Given the description of an element on the screen output the (x, y) to click on. 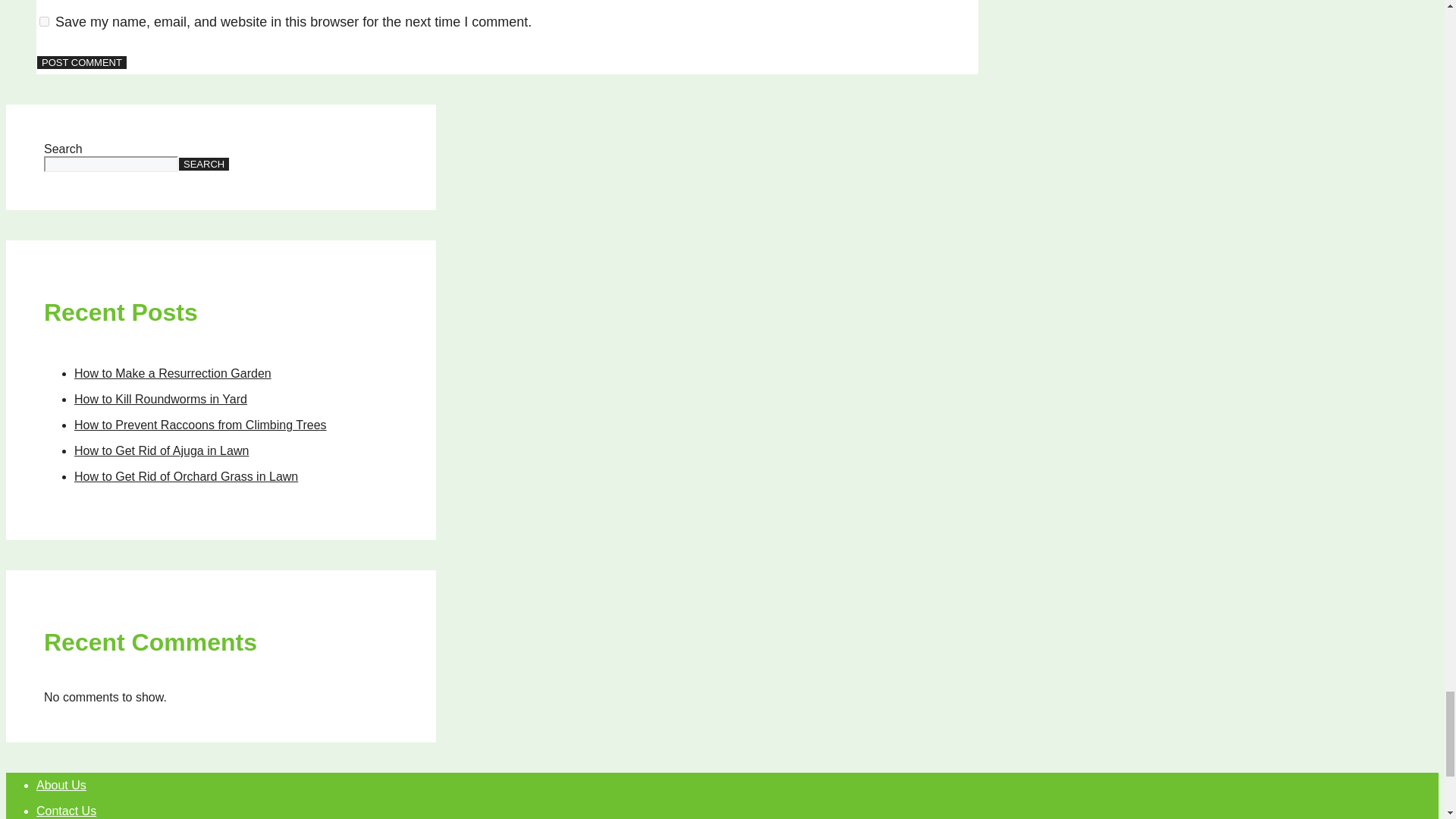
Post Comment (82, 62)
How to Kill Roundworms in Yard (160, 399)
How to Make a Resurrection Garden (172, 373)
SEARCH (203, 164)
yes (44, 21)
How to Get Rid of Orchard Grass in Lawn (186, 476)
How to Prevent Raccoons from Climbing Trees (200, 424)
About Us (60, 784)
Post Comment (82, 62)
Contact Us (66, 810)
How to Get Rid of Ajuga in Lawn (161, 450)
